Given the description of an element on the screen output the (x, y) to click on. 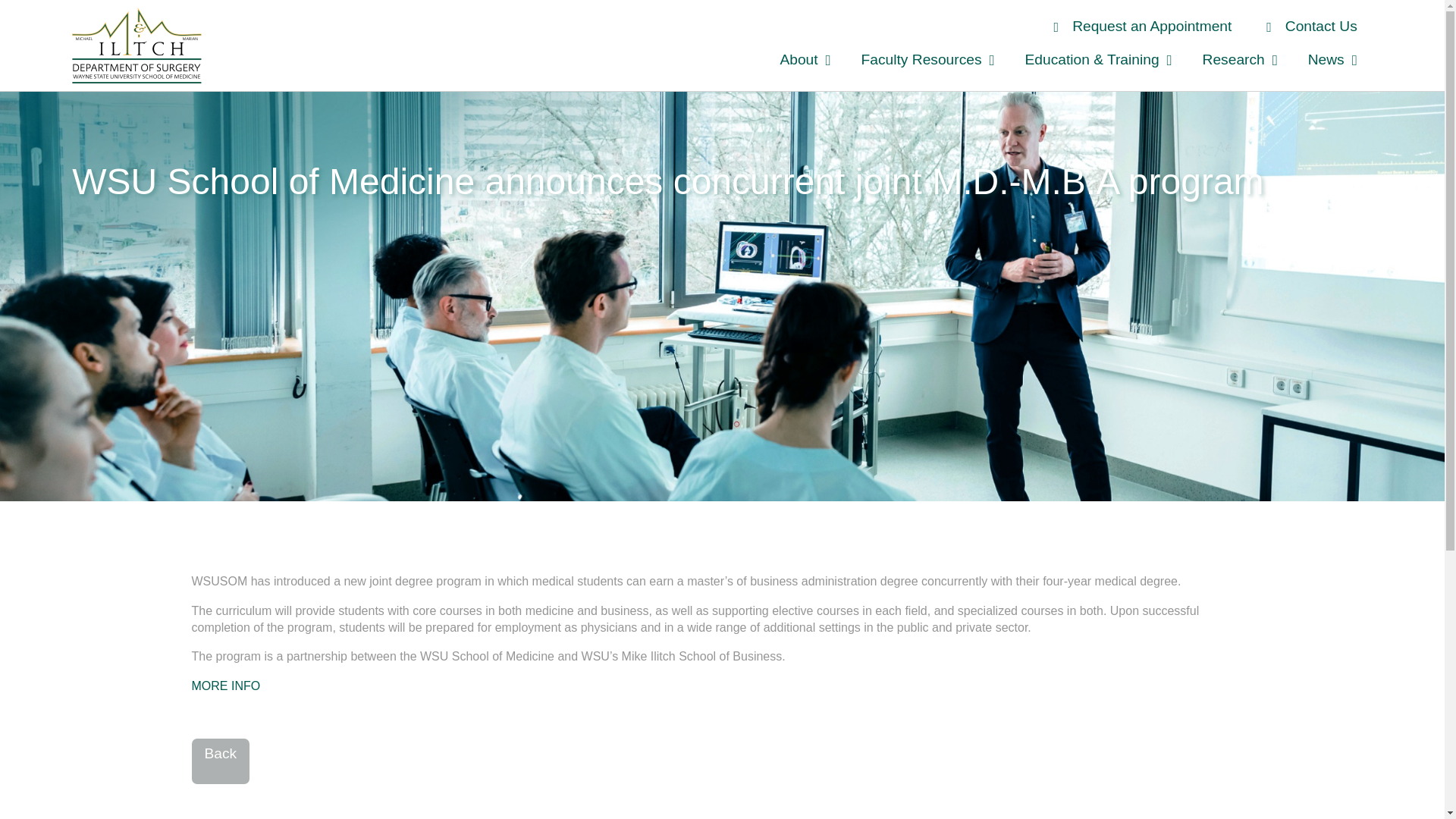
Request an Appointment (1136, 26)
About (804, 60)
Faculty Resources (927, 60)
Contact Us (1304, 26)
